Given the description of an element on the screen output the (x, y) to click on. 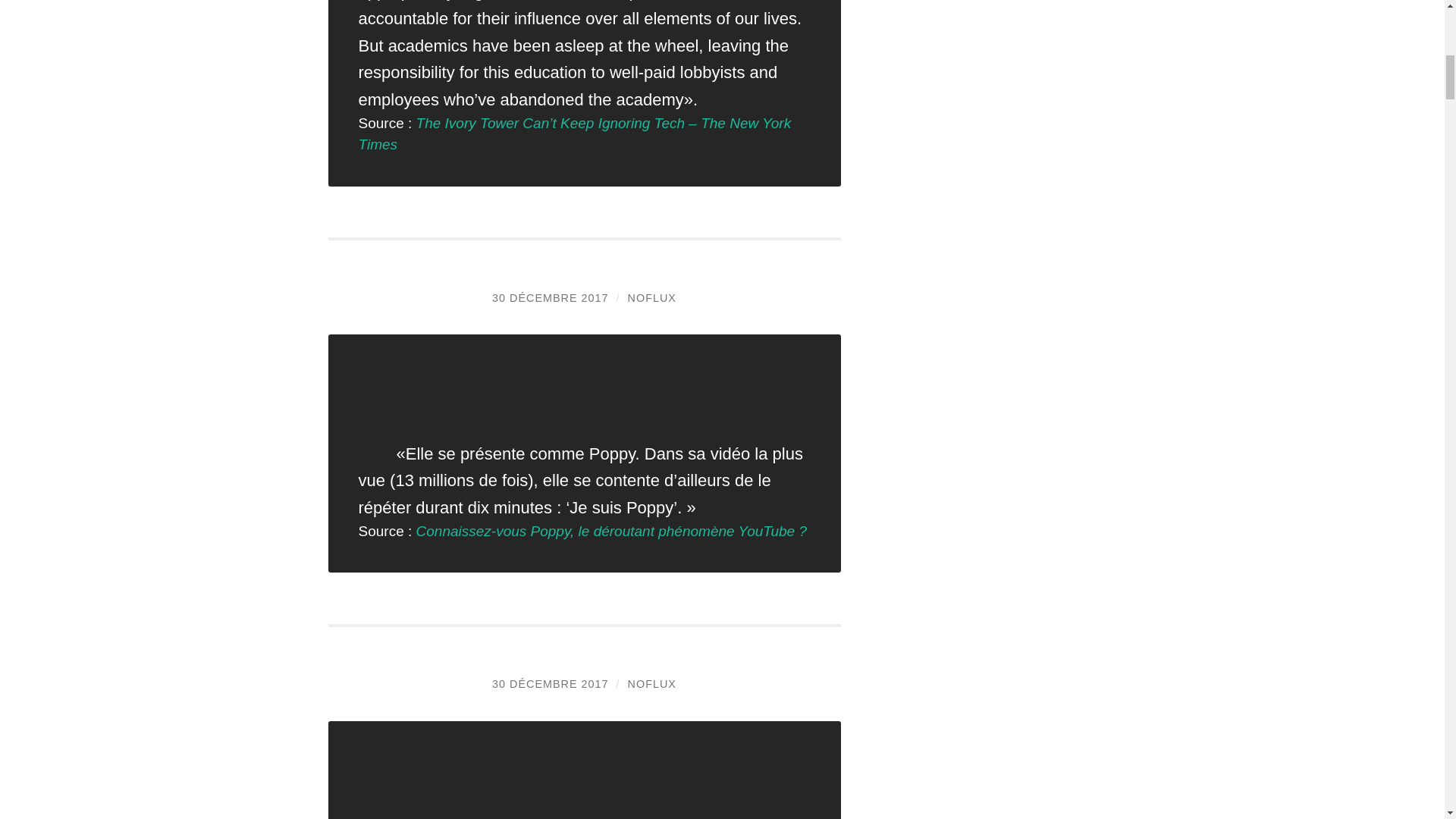
Articles par noflux (652, 684)
Articles par noflux (652, 297)
NOFLUX (652, 684)
NOFLUX (652, 297)
